Given the description of an element on the screen output the (x, y) to click on. 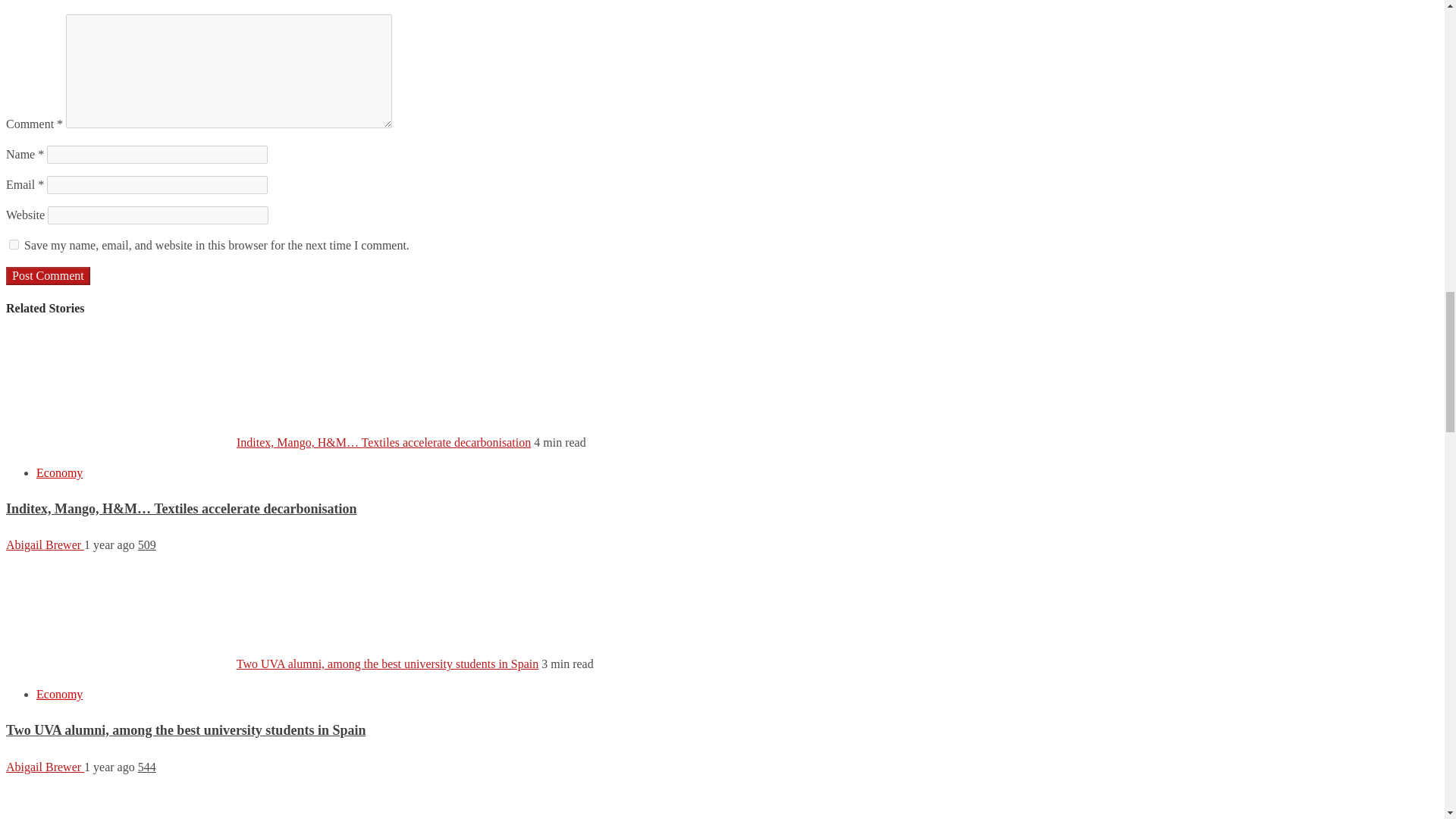
Two UVA alumni, among the best university students in Spain (185, 729)
Two UVA alumni, among the best university students in Spain (386, 663)
Abigail Brewer (44, 766)
Post Comment (47, 275)
yes (13, 244)
Post Comment (47, 275)
509 (146, 544)
Economy (59, 694)
Abigail Brewer (44, 544)
544 (146, 766)
Economy (59, 472)
